Given the description of an element on the screen output the (x, y) to click on. 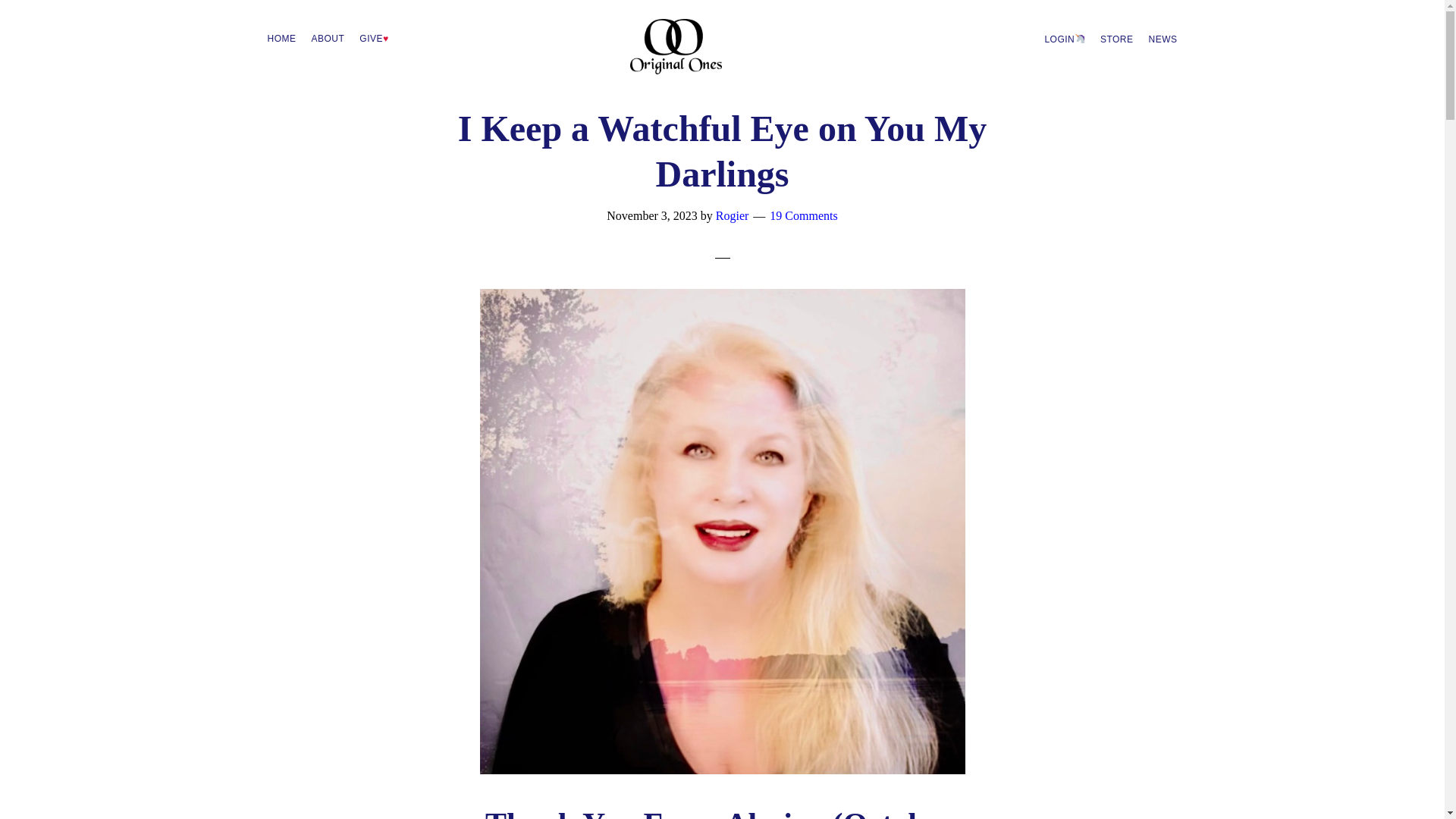
HOME (280, 37)
ABOUT (327, 37)
Rogier (732, 215)
NEWS (1162, 38)
STORE (1117, 38)
LOGIN (1064, 38)
19 Comments (803, 215)
